Given the description of an element on the screen output the (x, y) to click on. 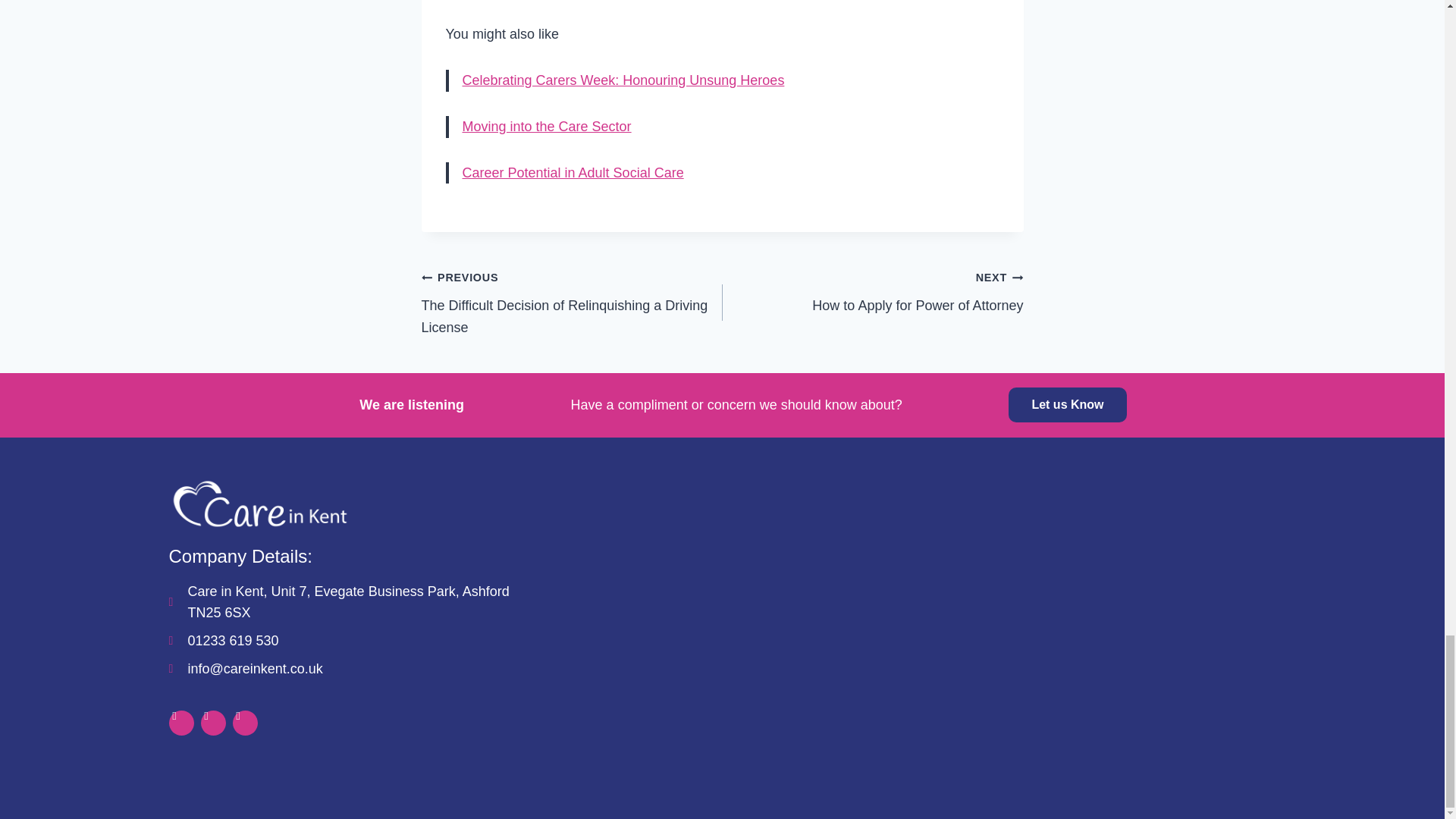
Career Potential in Adult Social Care (573, 172)
Let us Know (1067, 404)
Moving into the Care Sector (547, 126)
Celebrating Carers Week: Honouring Unsung Heroes (872, 291)
